Given the description of an element on the screen output the (x, y) to click on. 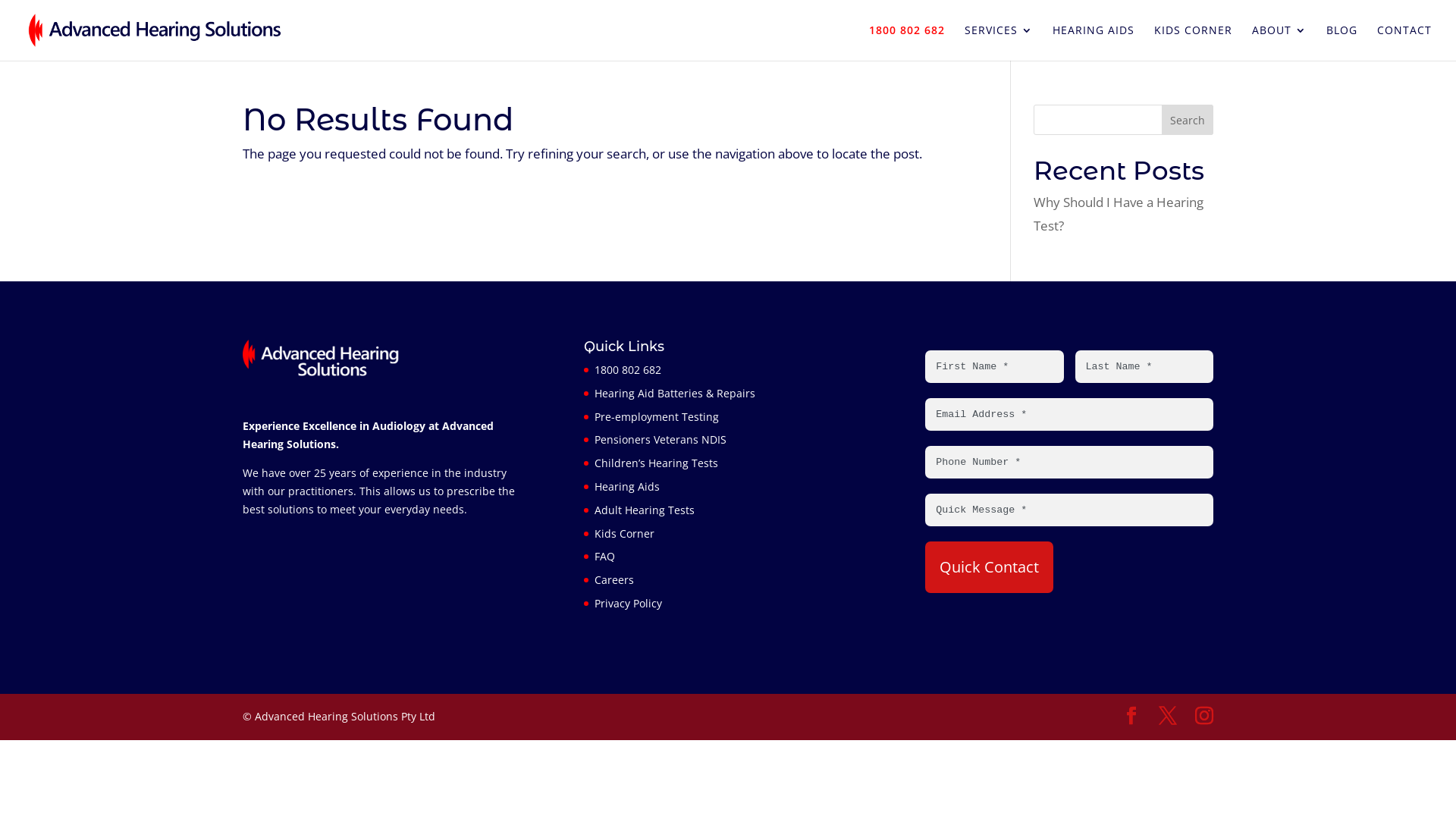
Quick Contact Element type: text (989, 567)
1800 802 682 Element type: text (627, 369)
HEARING AIDS Element type: text (1093, 42)
Adult Hearing Tests Element type: text (644, 509)
Why Should I Have a Hearing Test? Element type: text (1118, 213)
Hearing Aid Batteries & Repairs Element type: text (674, 392)
Careers Element type: text (613, 579)
FAQ Element type: text (604, 556)
Kids Corner Element type: text (624, 533)
Hearing Aids Element type: text (626, 486)
BLOG Element type: text (1341, 42)
ABOUT Element type: text (1279, 42)
SERVICES Element type: text (998, 42)
CONTACT Element type: text (1404, 42)
Pre-employment Testing Element type: text (656, 416)
Privacy Policy Element type: text (628, 603)
Search Element type: text (1187, 119)
1800 802 682 Element type: text (906, 42)
Pensioners Veterans NDIS Element type: text (660, 439)
KIDS CORNER Element type: text (1193, 42)
